Given the description of an element on the screen output the (x, y) to click on. 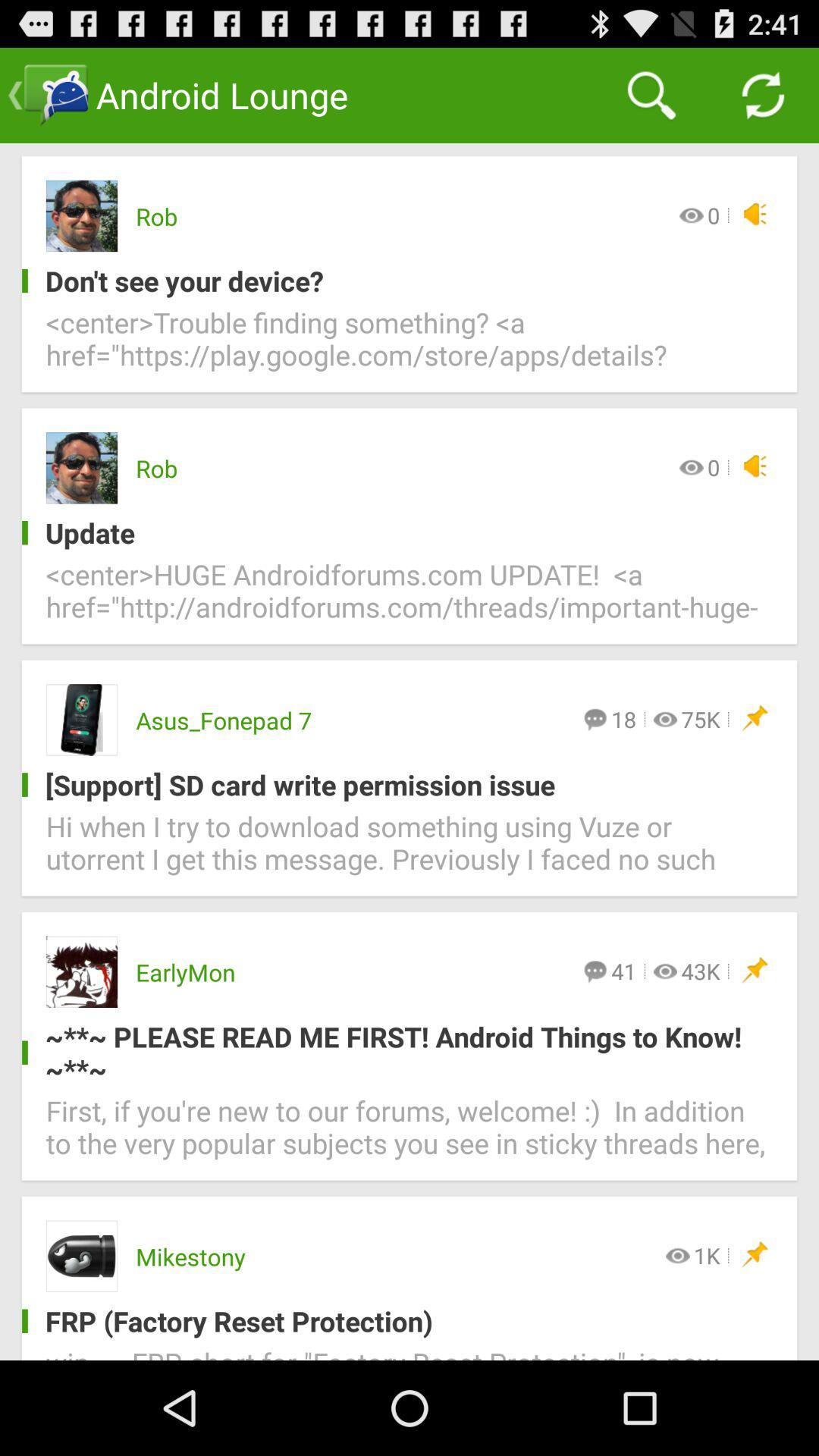
choose icon below the don t see icon (409, 347)
